Given the description of an element on the screen output the (x, y) to click on. 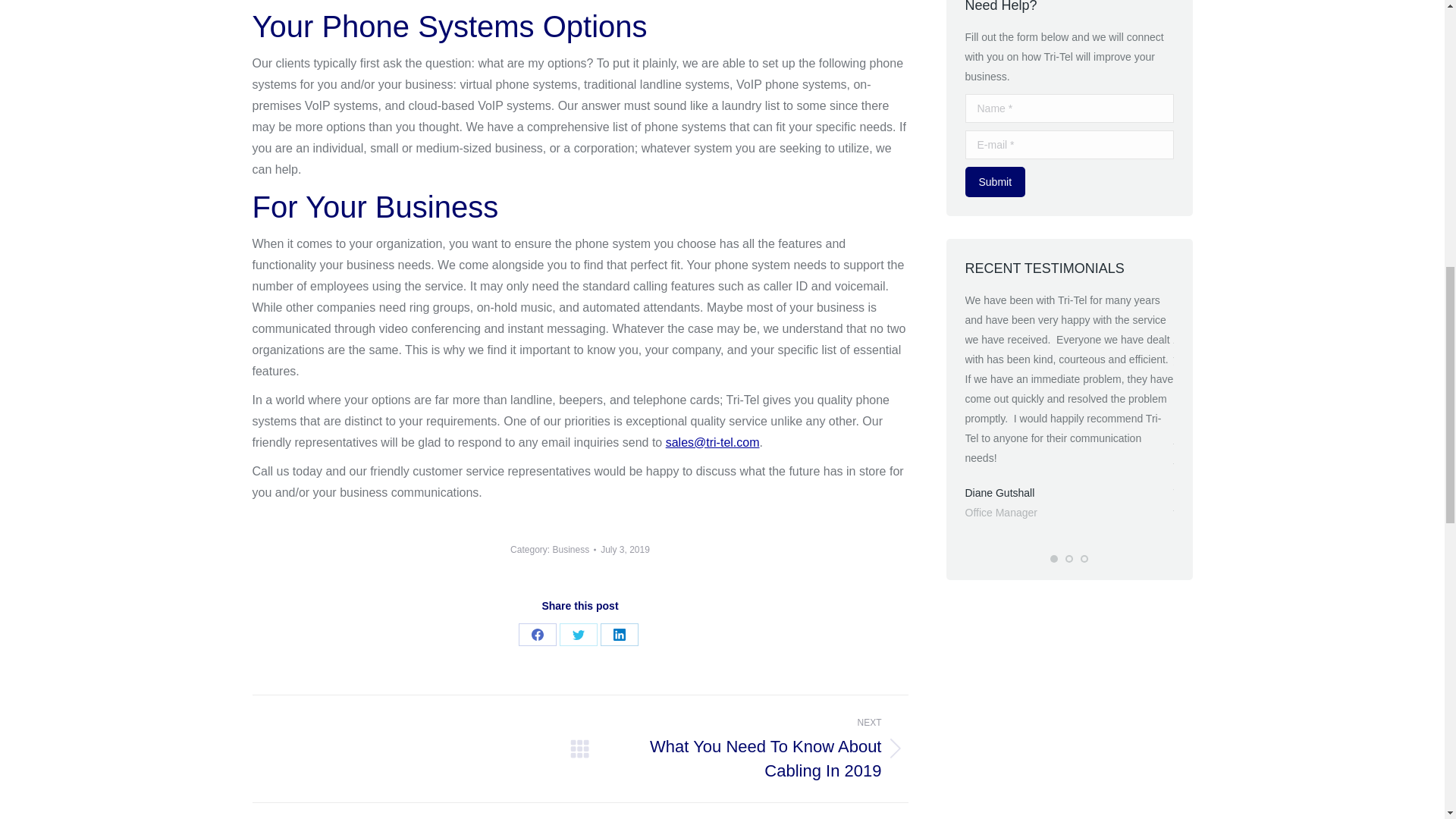
LinkedIn (619, 634)
submit (1063, 183)
7:28 pm (624, 549)
Twitter (577, 634)
Facebook (537, 634)
